Given the description of an element on the screen output the (x, y) to click on. 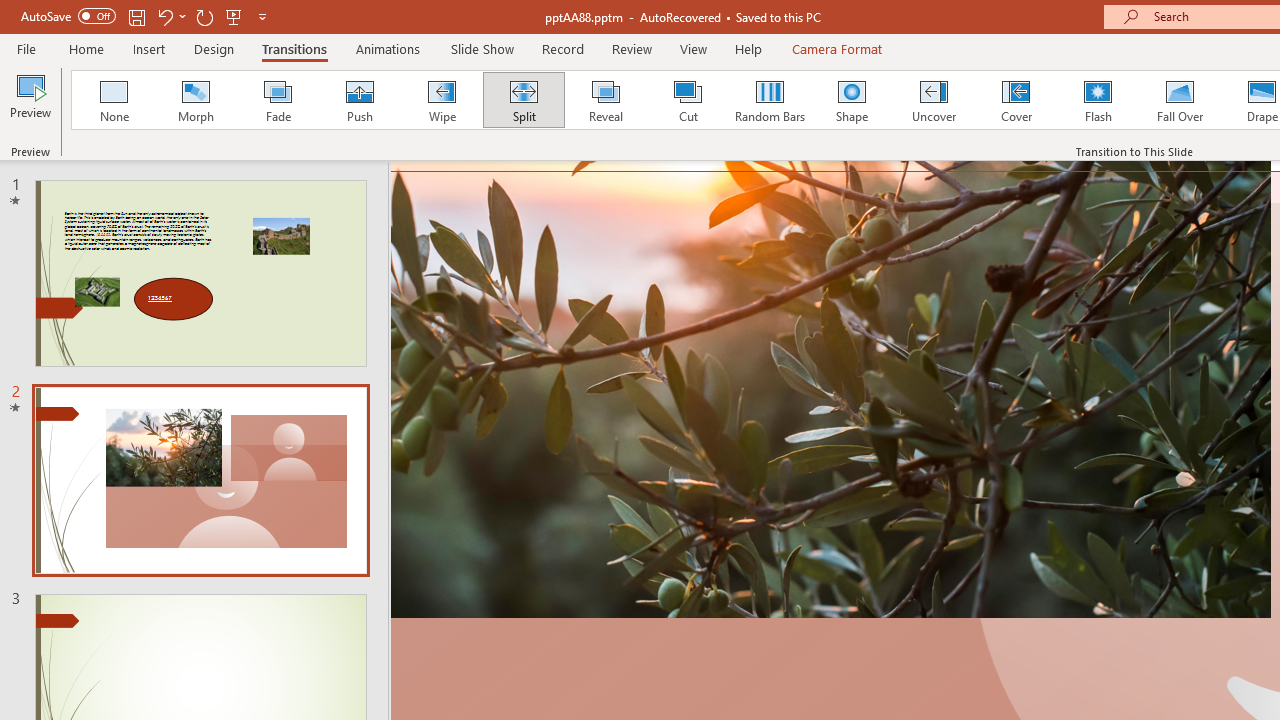
Fall Over (1180, 100)
Wipe (441, 100)
Cover (1016, 100)
Uncover (934, 100)
None (113, 100)
Random Bars (770, 100)
